Given the description of an element on the screen output the (x, y) to click on. 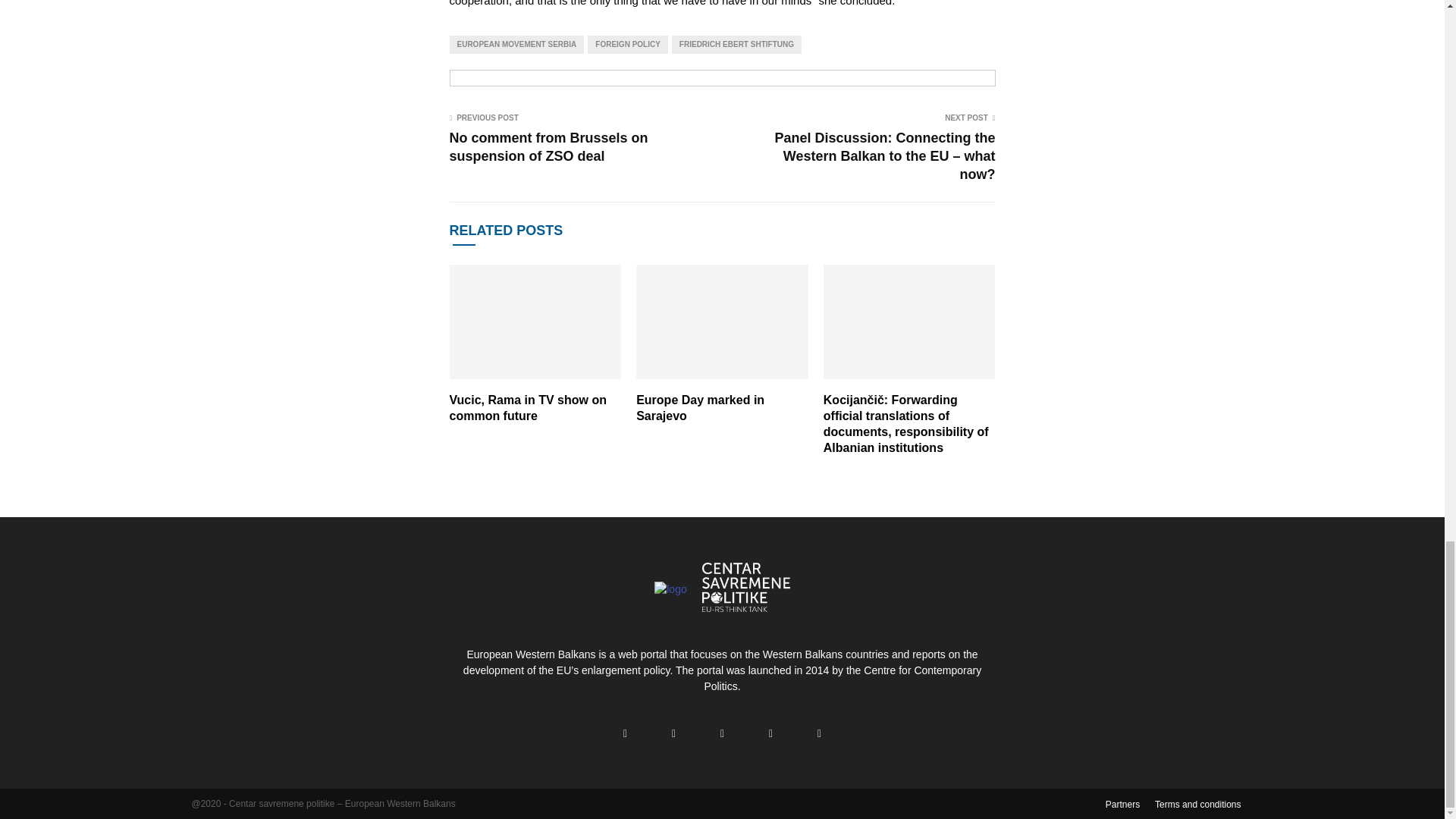
FOREIGN POLICY (628, 45)
Europe Day marked in Sarajevo (700, 407)
Vucic, Rama in TV show on common future (526, 407)
No comment from Brussels on suspension of ZSO deal (547, 146)
FRIEDRICH EBERT SHTIFTUNG (736, 45)
EUROPEAN MOVEMENT SERBIA (515, 45)
